Given the description of an element on the screen output the (x, y) to click on. 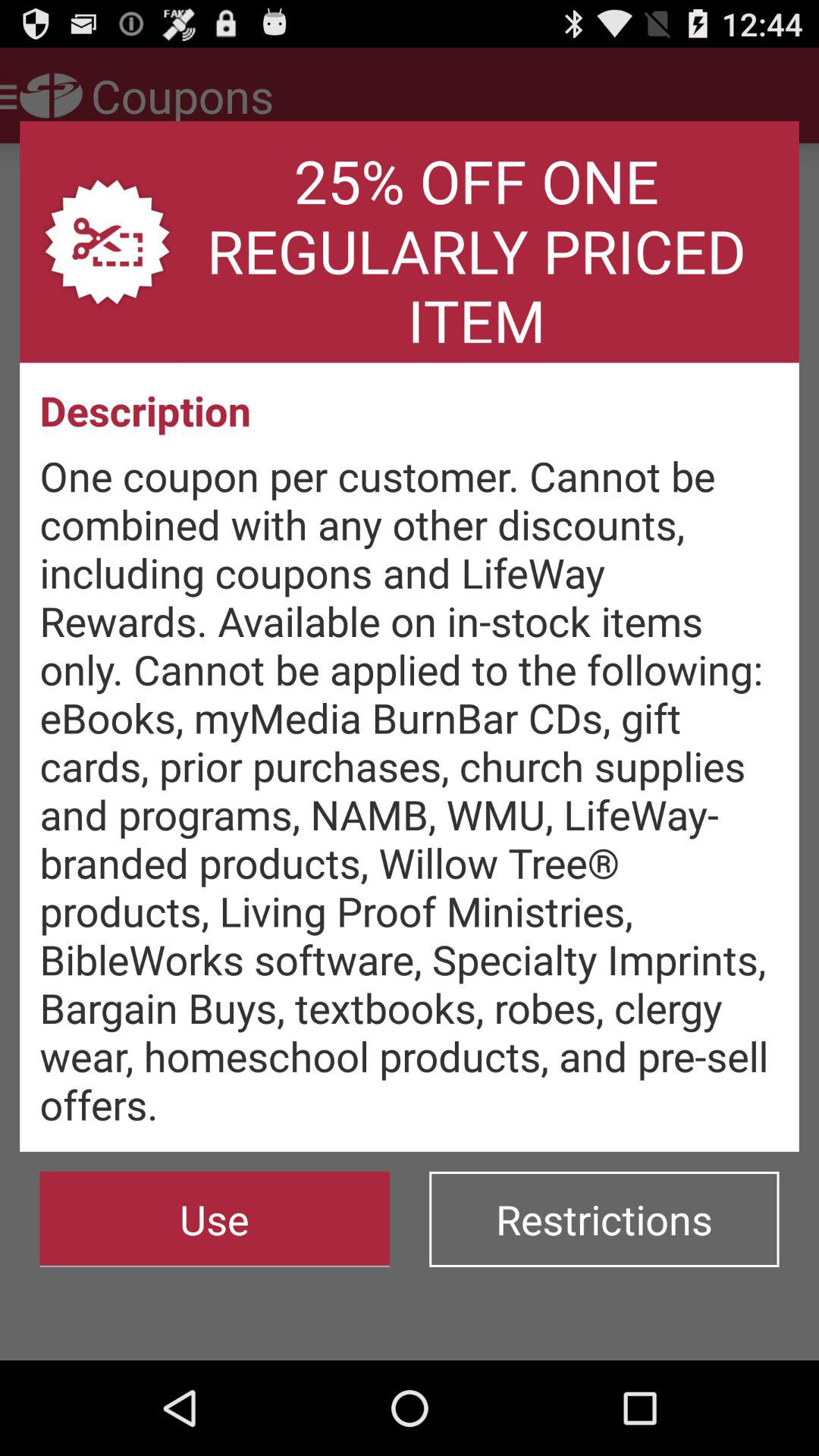
tap the icon next to the restrictions button (214, 1219)
